Given the description of an element on the screen output the (x, y) to click on. 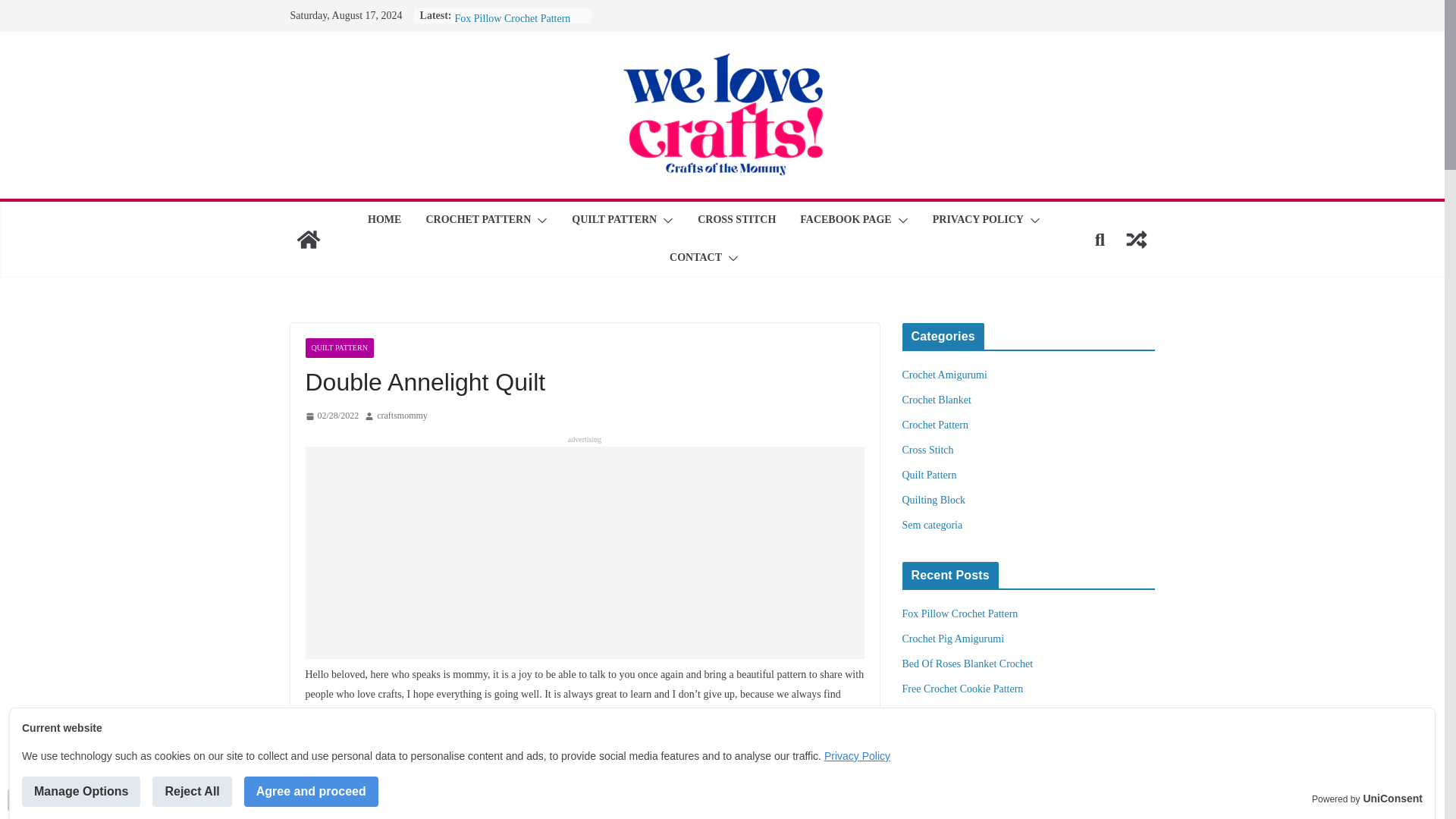
Advertisement (583, 552)
CROCHET PATTERN (478, 220)
Reject All (191, 791)
Manage Options (80, 791)
Fox Pillow Crochet Pattern (512, 18)
QUILT PATTERN (614, 220)
Agree and proceed (311, 791)
Crochet Donuts Pattern (504, 4)
View a random post (1136, 239)
CONTACT (695, 258)
